Given the description of an element on the screen output the (x, y) to click on. 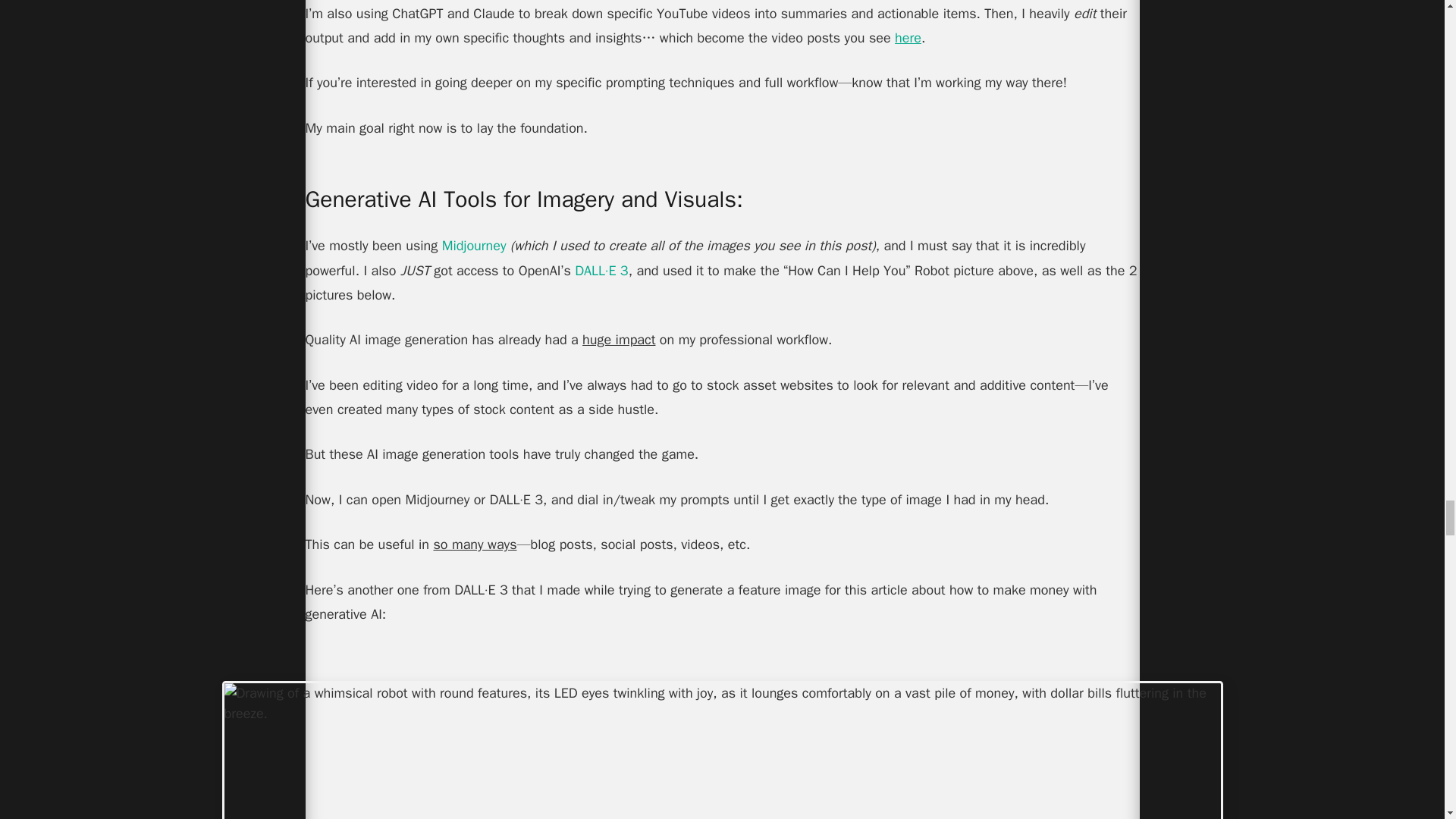
Midjourney (474, 245)
here (908, 37)
